Given the description of an element on the screen output the (x, y) to click on. 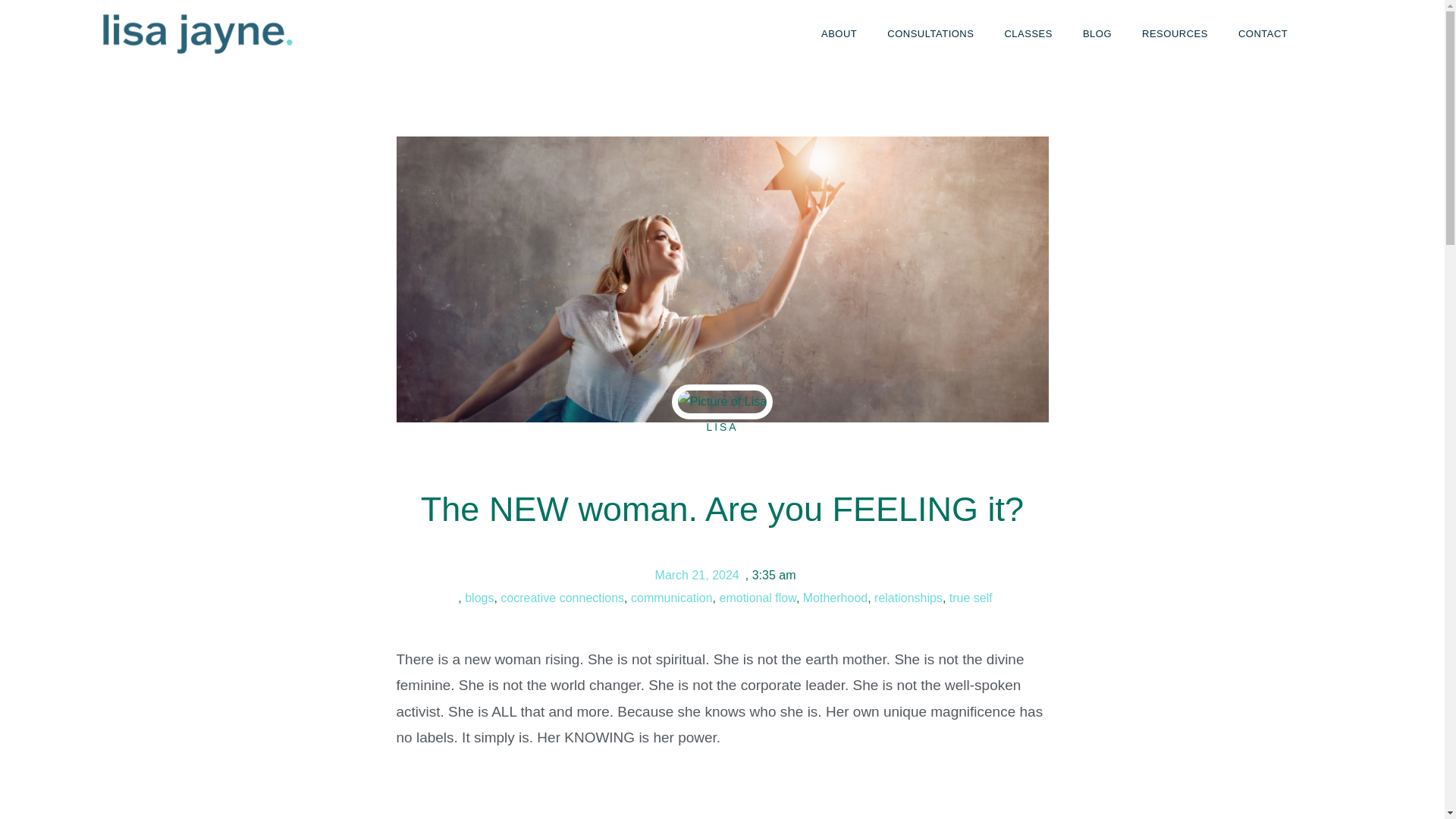
cocreative connections (562, 597)
relationships (908, 597)
RESOURCES (1174, 33)
emotional flow (756, 597)
Motherhood (835, 597)
true self (970, 597)
CONTACT (1263, 33)
March 21, 2024 (694, 575)
blogs (478, 597)
communication (671, 597)
